Given the description of an element on the screen output the (x, y) to click on. 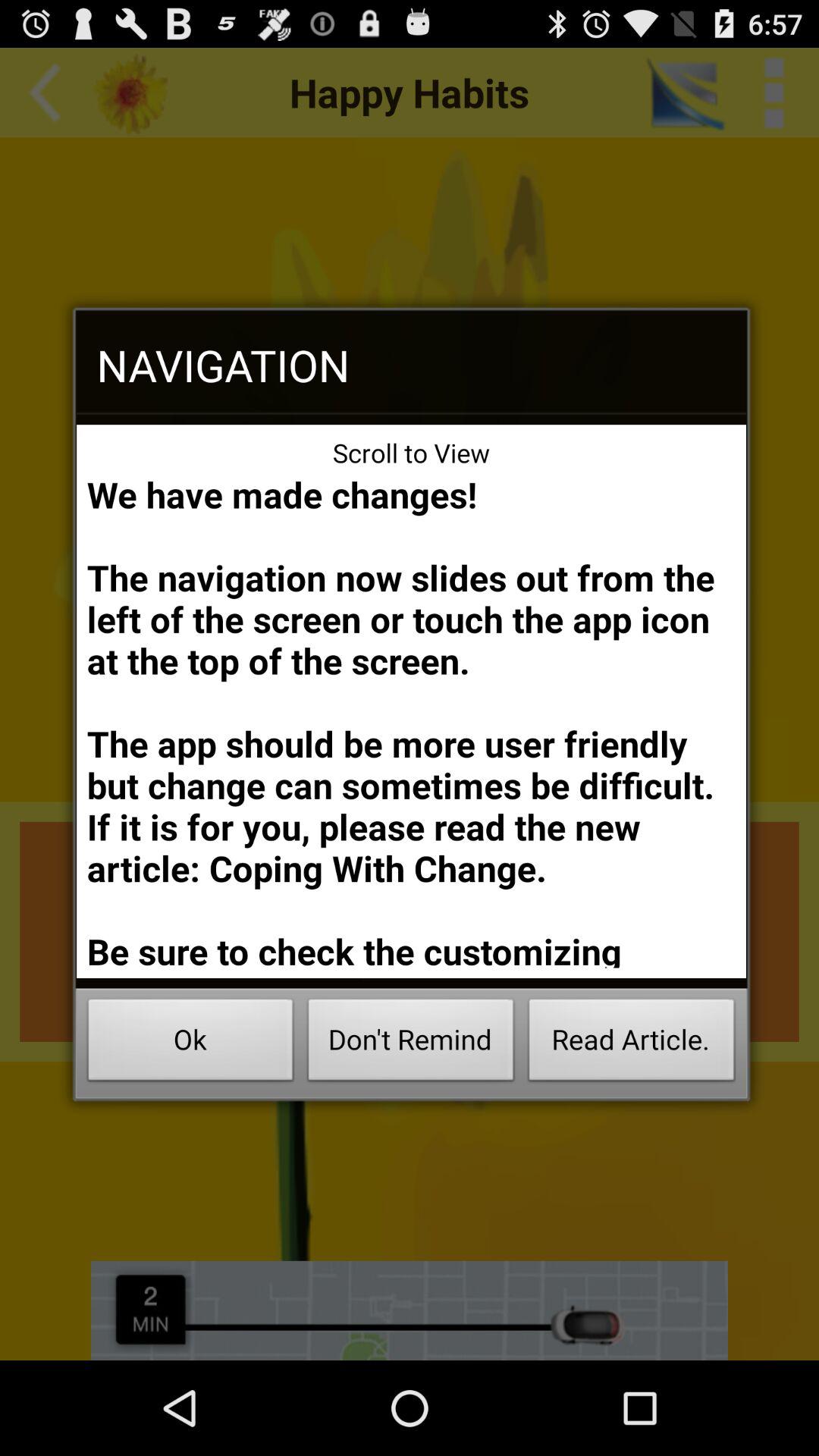
press icon below we have made icon (631, 1044)
